Given the description of an element on the screen output the (x, y) to click on. 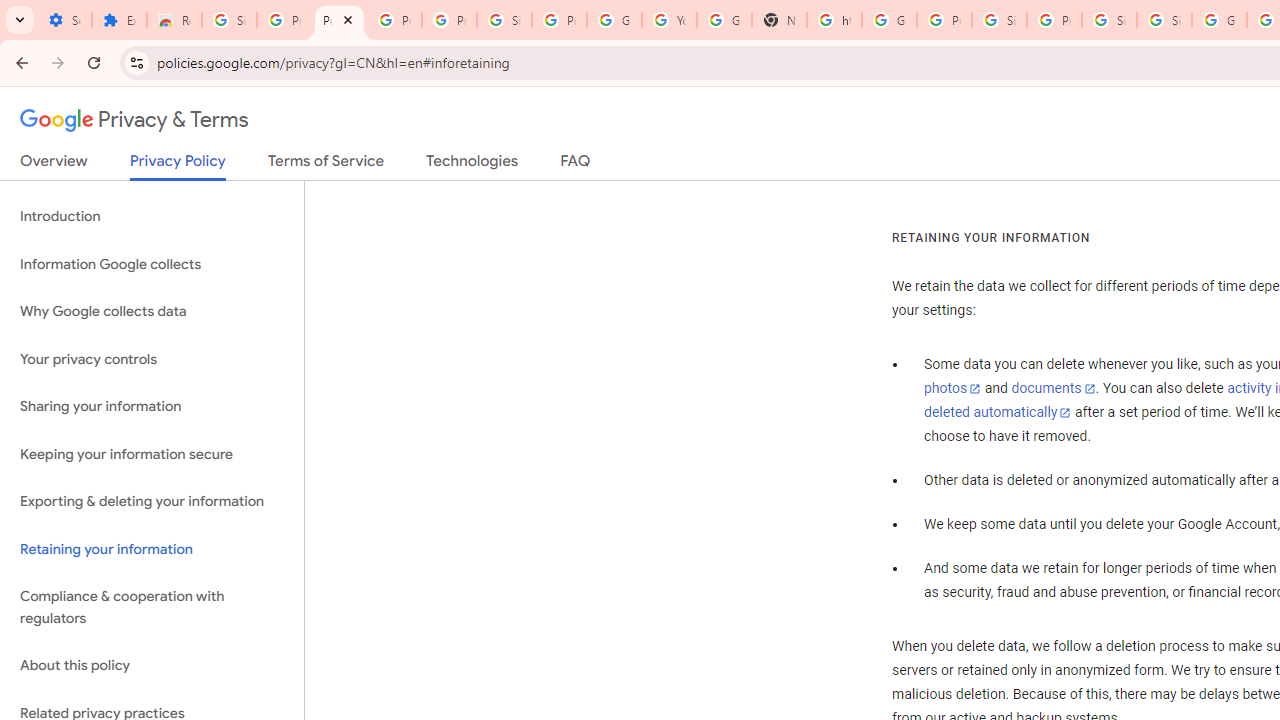
Sign in - Google Accounts (504, 20)
Settings - On startup (64, 20)
documents (1053, 389)
Google Account (614, 20)
Sign in - Google Accounts (1163, 20)
Compliance & cooperation with regulators (152, 607)
New Tab (779, 20)
Sign in - Google Accounts (998, 20)
